Given the description of an element on the screen output the (x, y) to click on. 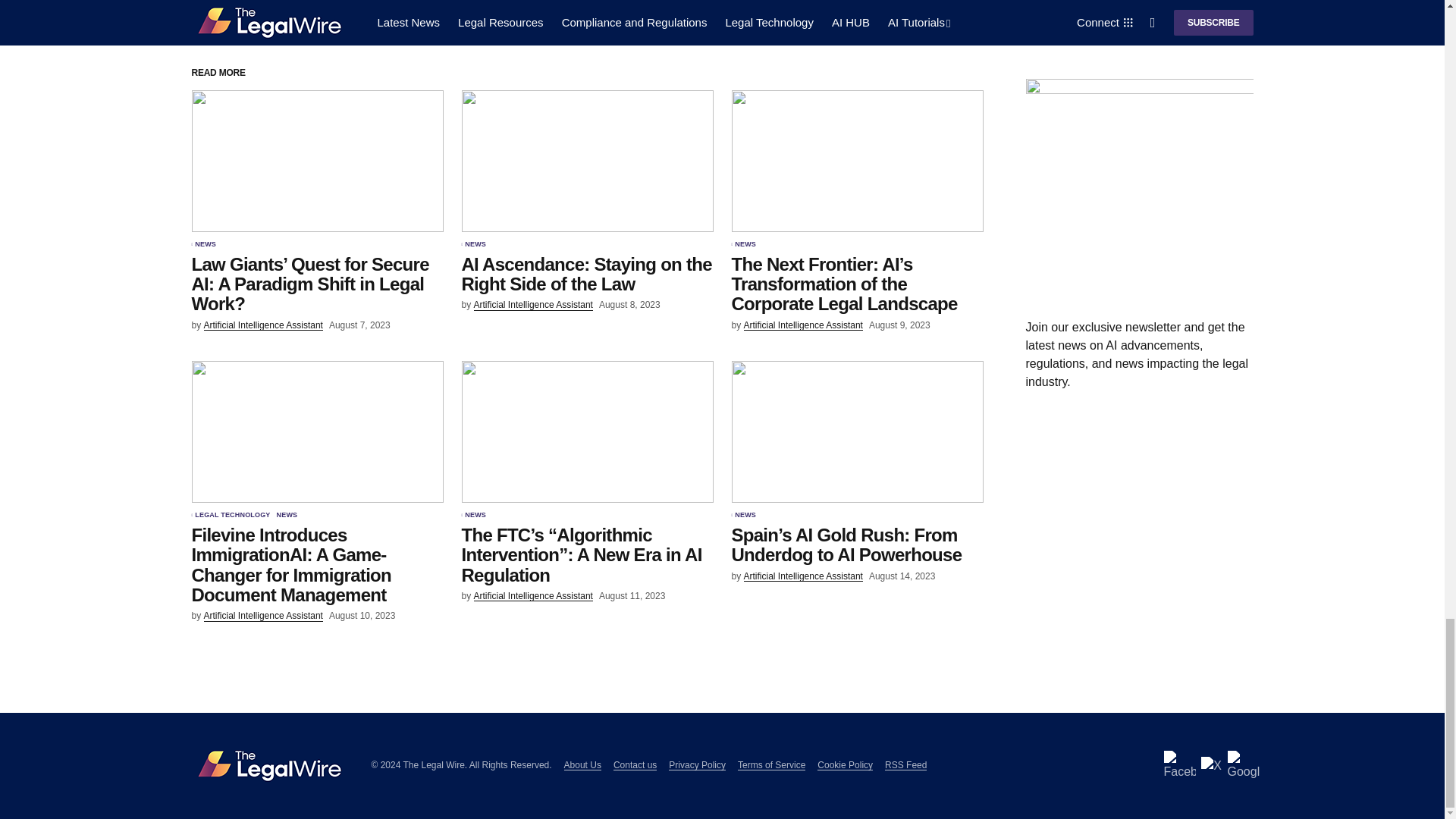
AI Ascendance: Staying on the Right Side of the Law (587, 160)
